Given the description of an element on the screen output the (x, y) to click on. 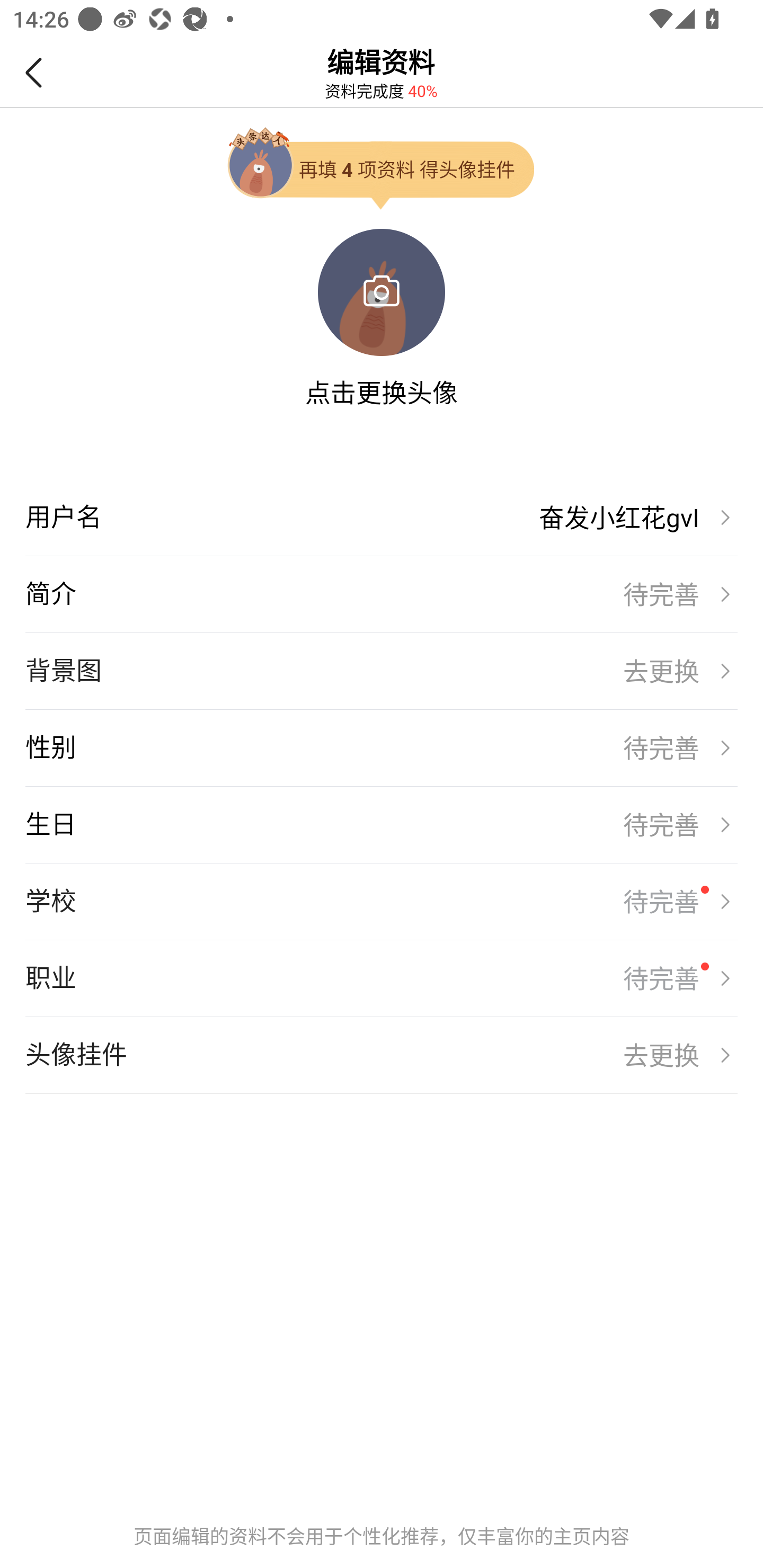
返回 (27, 72)
点击更换头像 (381, 391)
用户名 奋发小红花gvI (381, 517)
简介 待完善 (381, 593)
背景图 去更换 (381, 670)
性别 待完善 (381, 747)
生日 待完善 (381, 824)
学校 待完善 (381, 901)
职业 待完善 (381, 978)
头像挂件 去更换 (381, 1054)
